Given the description of an element on the screen output the (x, y) to click on. 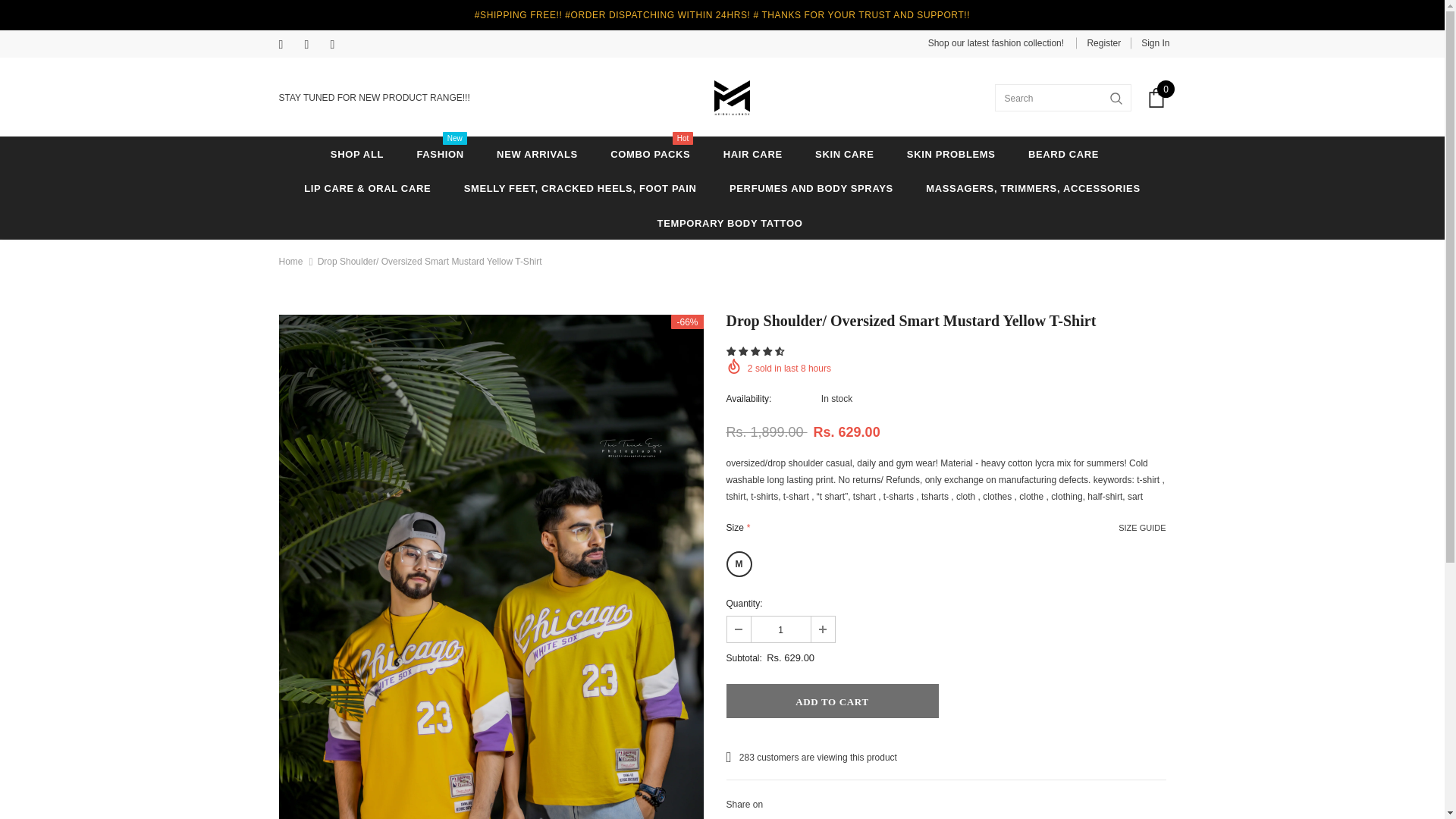
Add to Cart (832, 700)
Register (1103, 43)
Logo (731, 97)
Sign In (1150, 43)
Instagram (313, 45)
Facebook (288, 45)
1 (780, 629)
YouTube (339, 45)
